Given the description of an element on the screen output the (x, y) to click on. 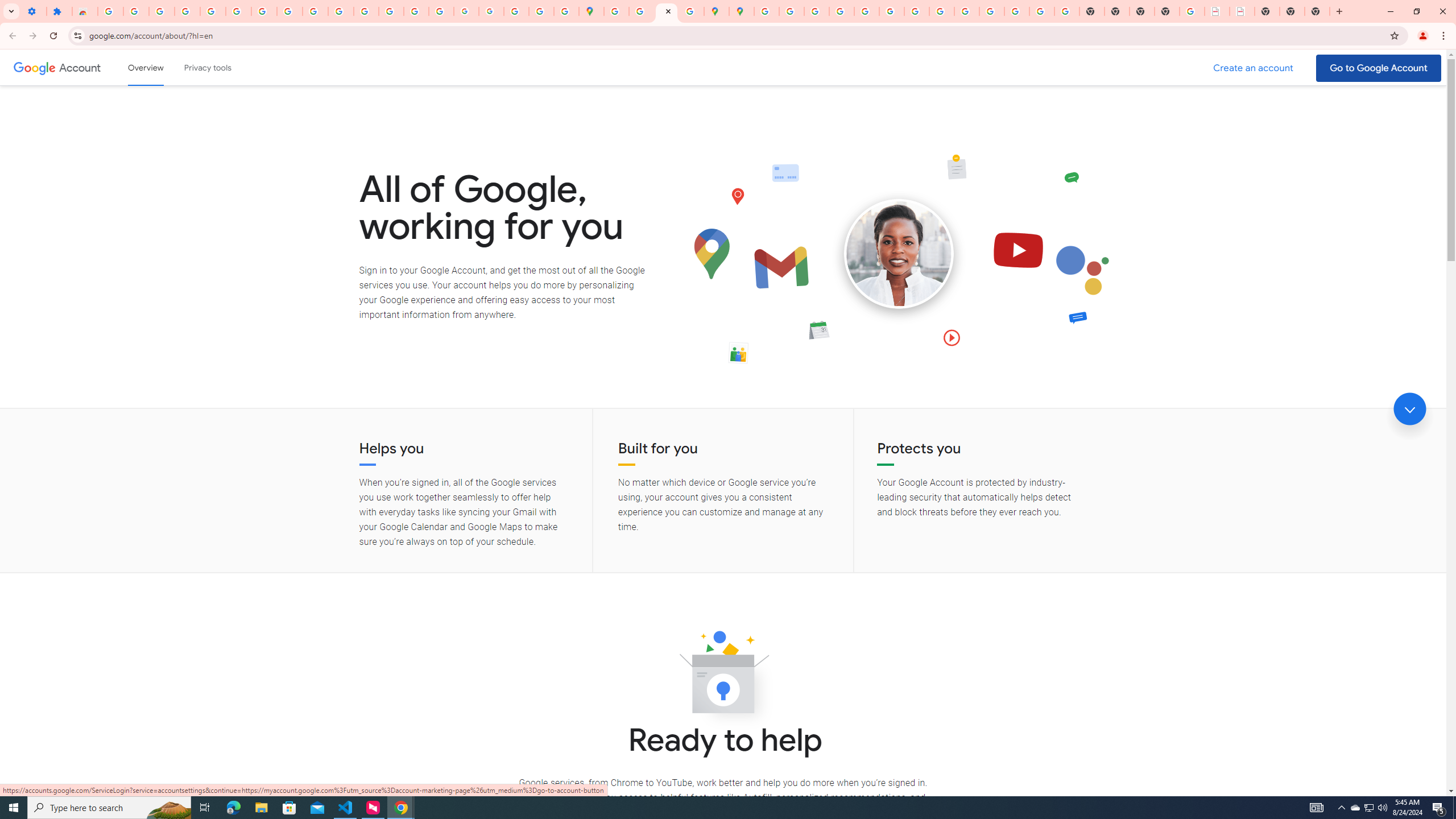
Sign in - Google Accounts (766, 11)
Create a Google Account (1253, 67)
YouTube (916, 11)
Reviews: Helix Fruit Jump Arcade Game (84, 11)
Google Maps (590, 11)
Safety in Our Products - Google Safety Center (691, 11)
Extensions (59, 11)
